Given the description of an element on the screen output the (x, y) to click on. 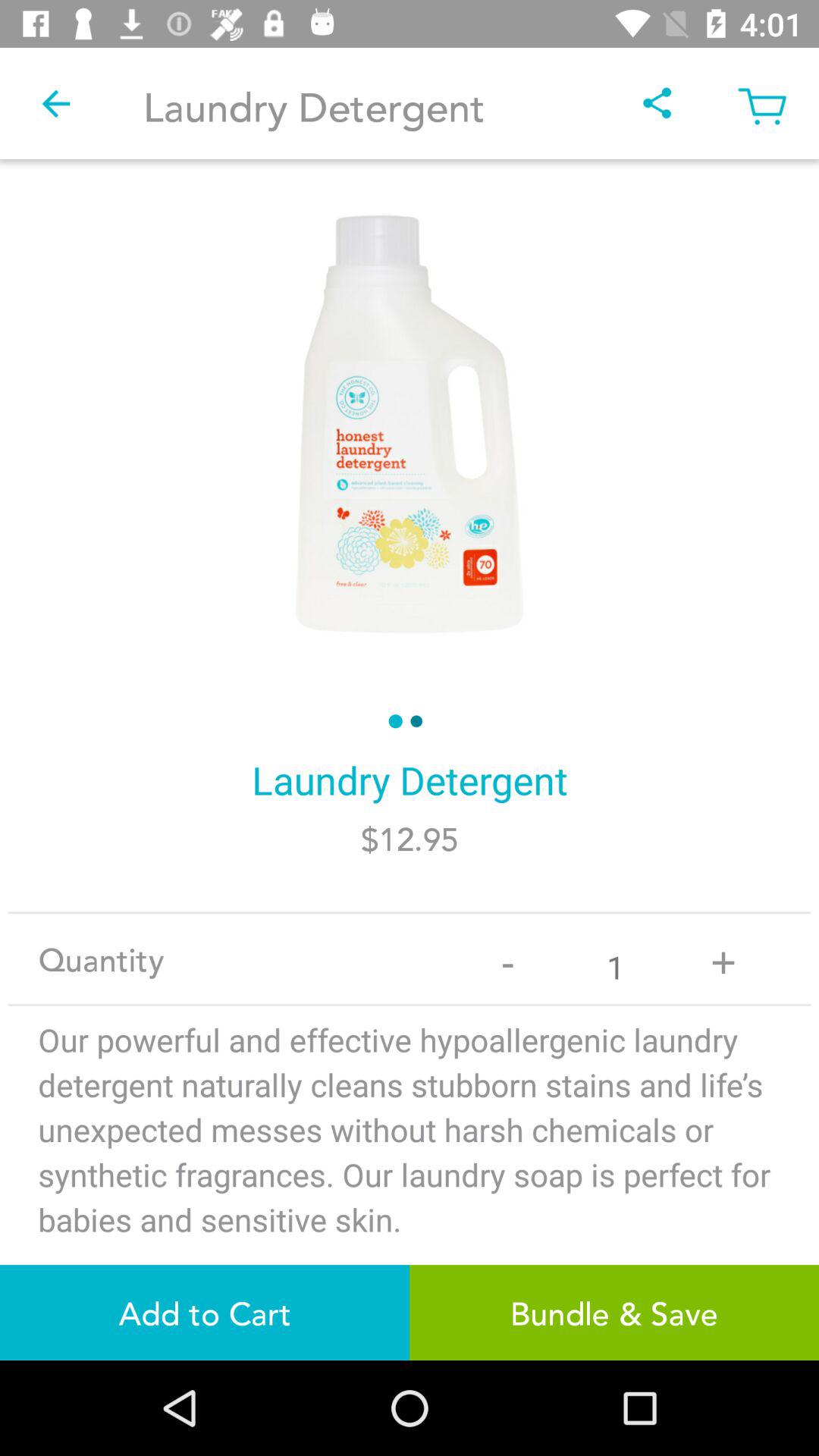
open the icon next to the quantity icon (507, 958)
